Given the description of an element on the screen output the (x, y) to click on. 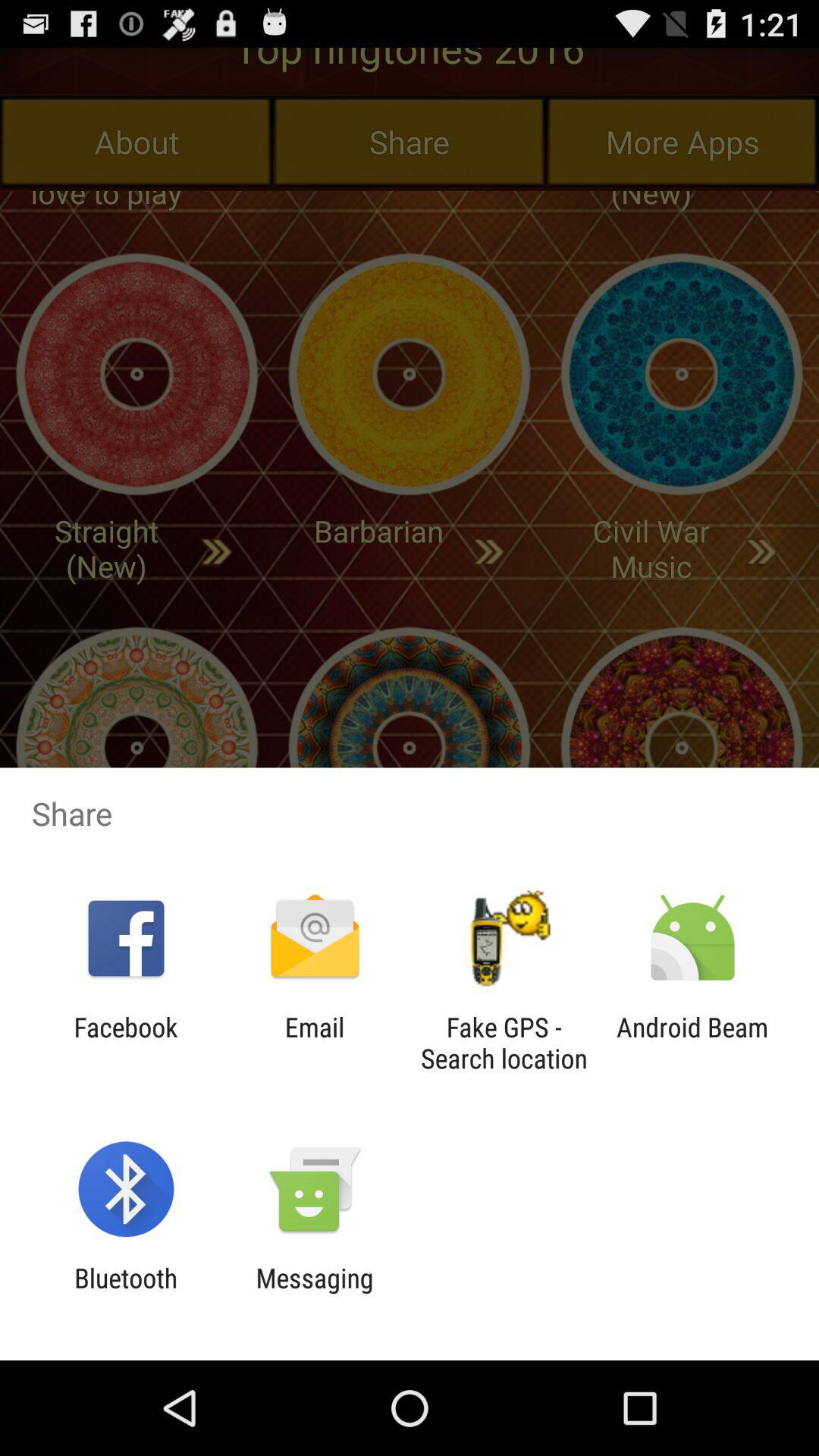
open icon next to the email app (125, 1042)
